Given the description of an element on the screen output the (x, y) to click on. 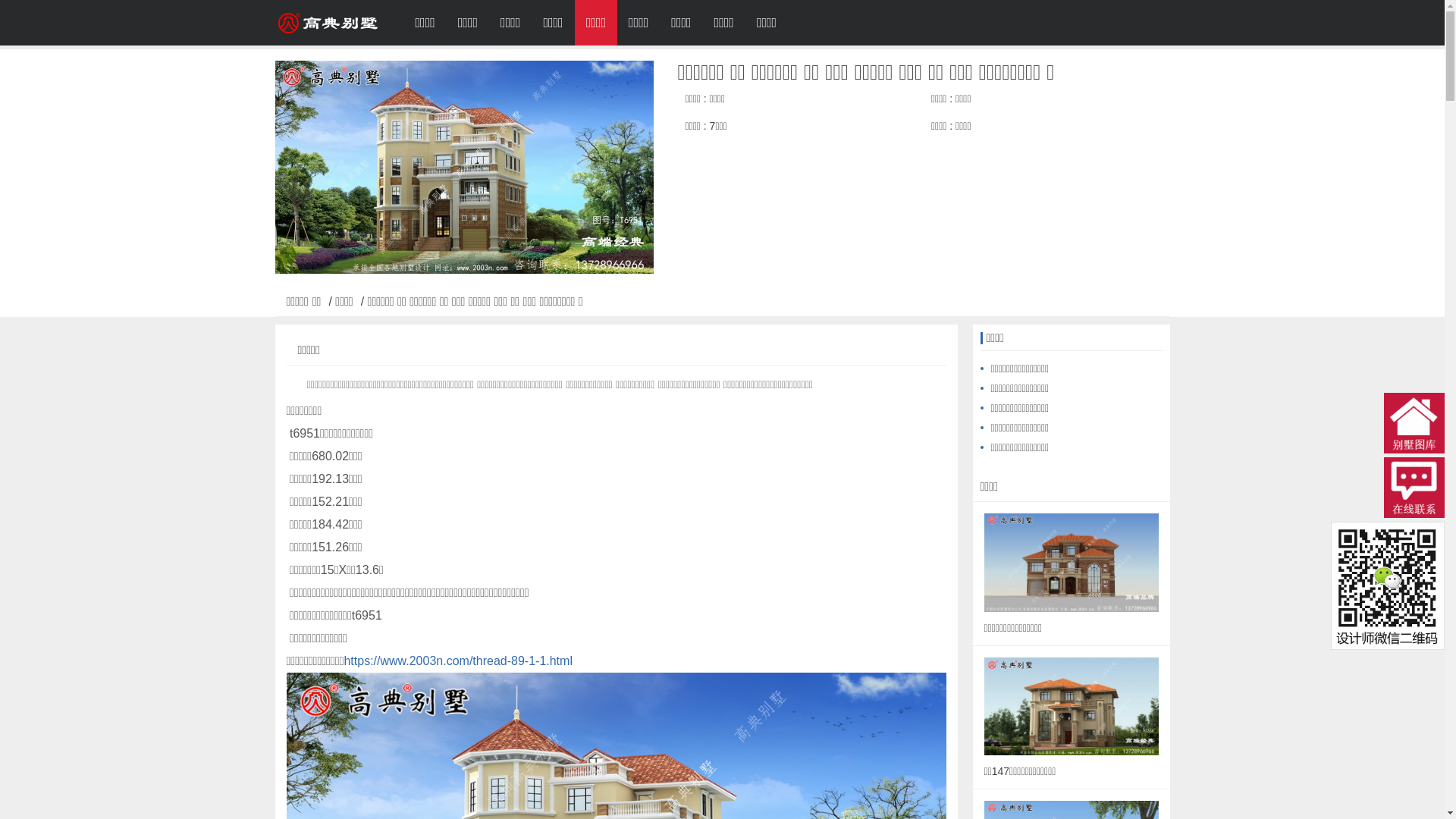
https://www.2003n.com/thread-89-1-1.html Element type: text (457, 660)
